Given the description of an element on the screen output the (x, y) to click on. 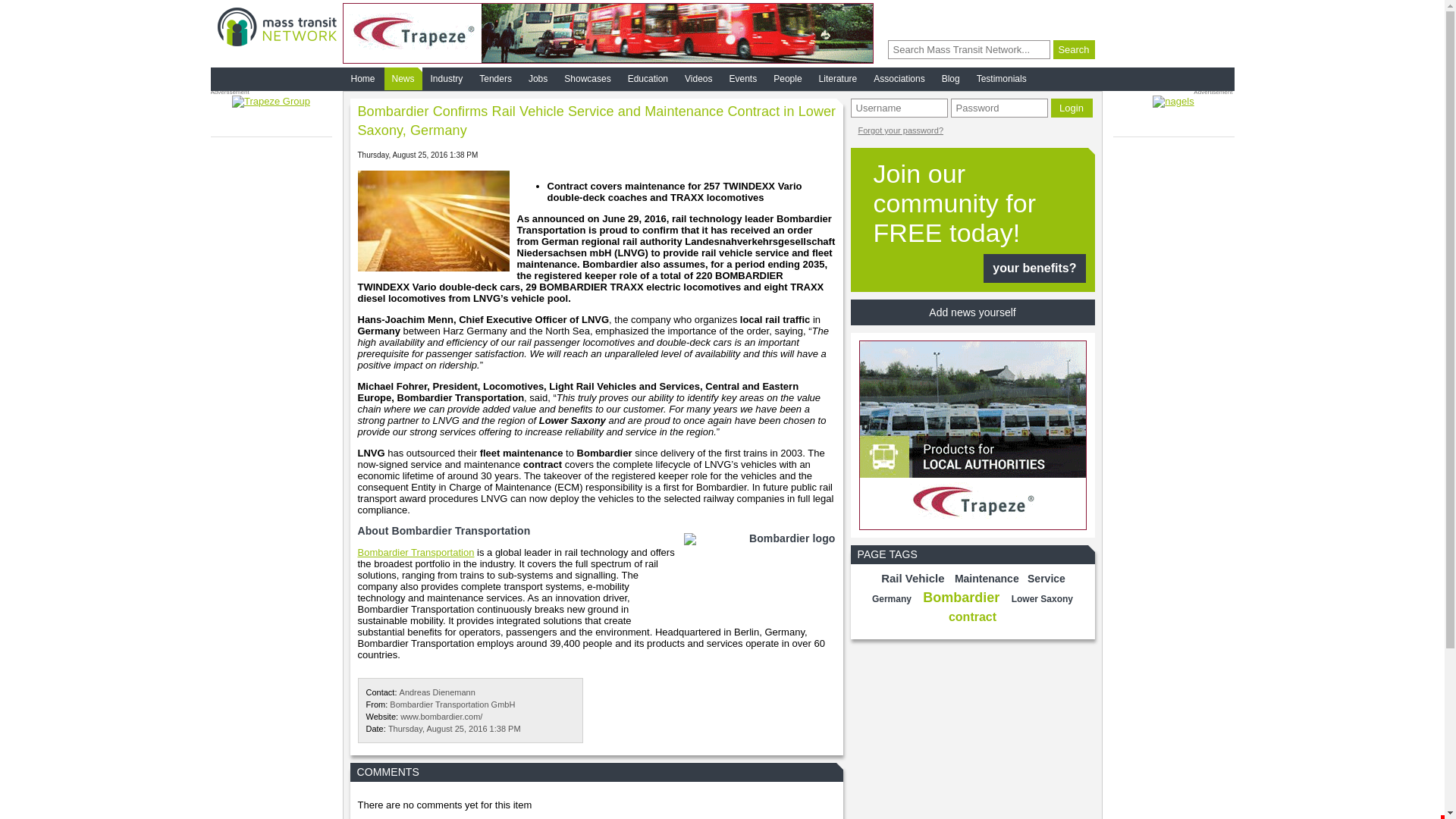
News (402, 78)
Maintenance (987, 578)
Tenders (495, 78)
Germany (891, 598)
Search (1073, 49)
Add news yourself (972, 312)
Bombardier (961, 597)
Bombardier Transportation (416, 552)
Events (743, 78)
Login (1072, 107)
Lower Saxony (1042, 598)
Associations (898, 78)
Bombardier Transportation GmbH (452, 704)
Literature (837, 78)
contract (972, 616)
